Given the description of an element on the screen output the (x, y) to click on. 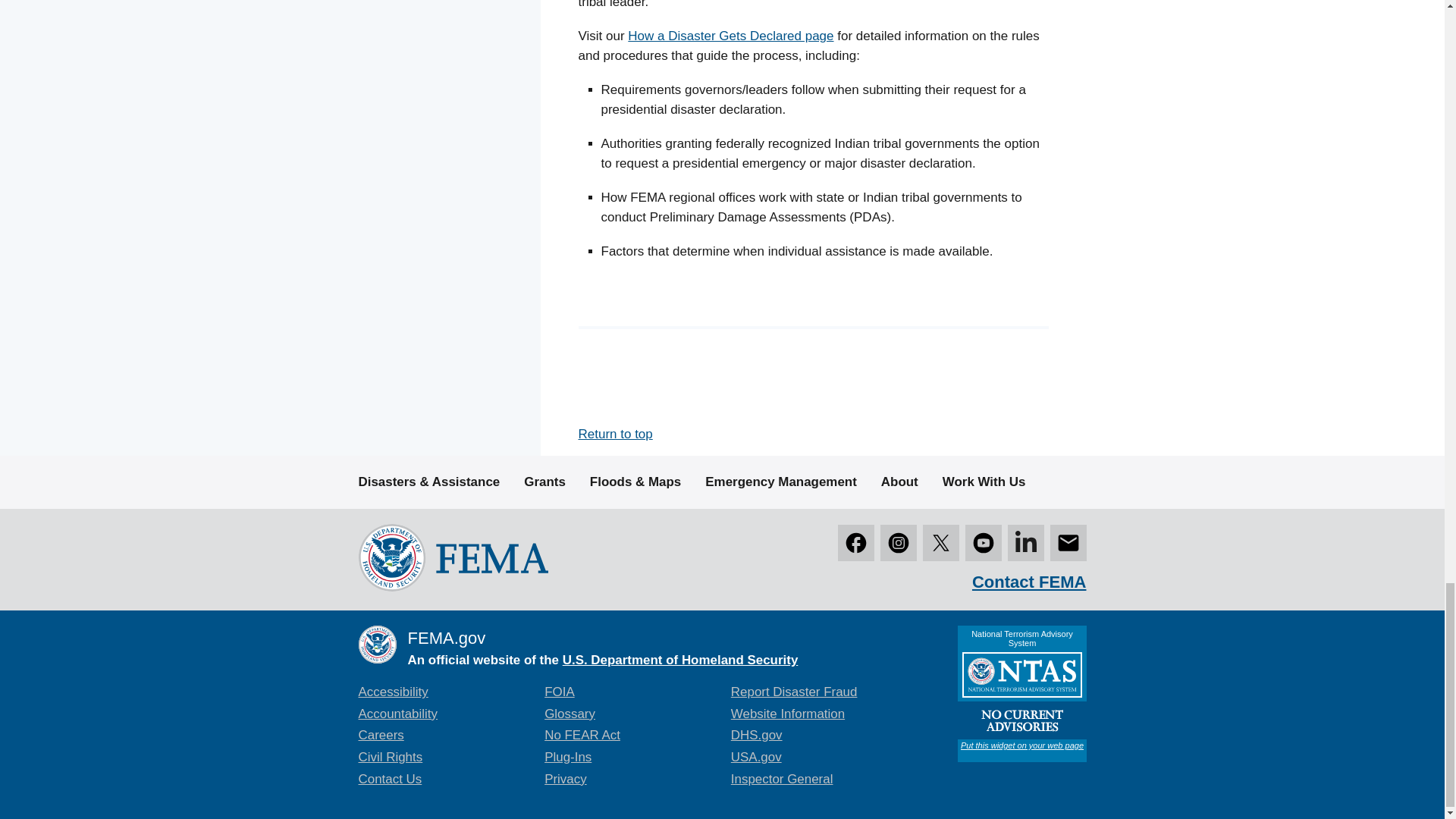
FEMA logo (452, 557)
Return to top (615, 433)
How a Disaster Gets Declared page (729, 35)
National Terrorism Advisory System (1021, 693)
Grants (545, 482)
